Given the description of an element on the screen output the (x, y) to click on. 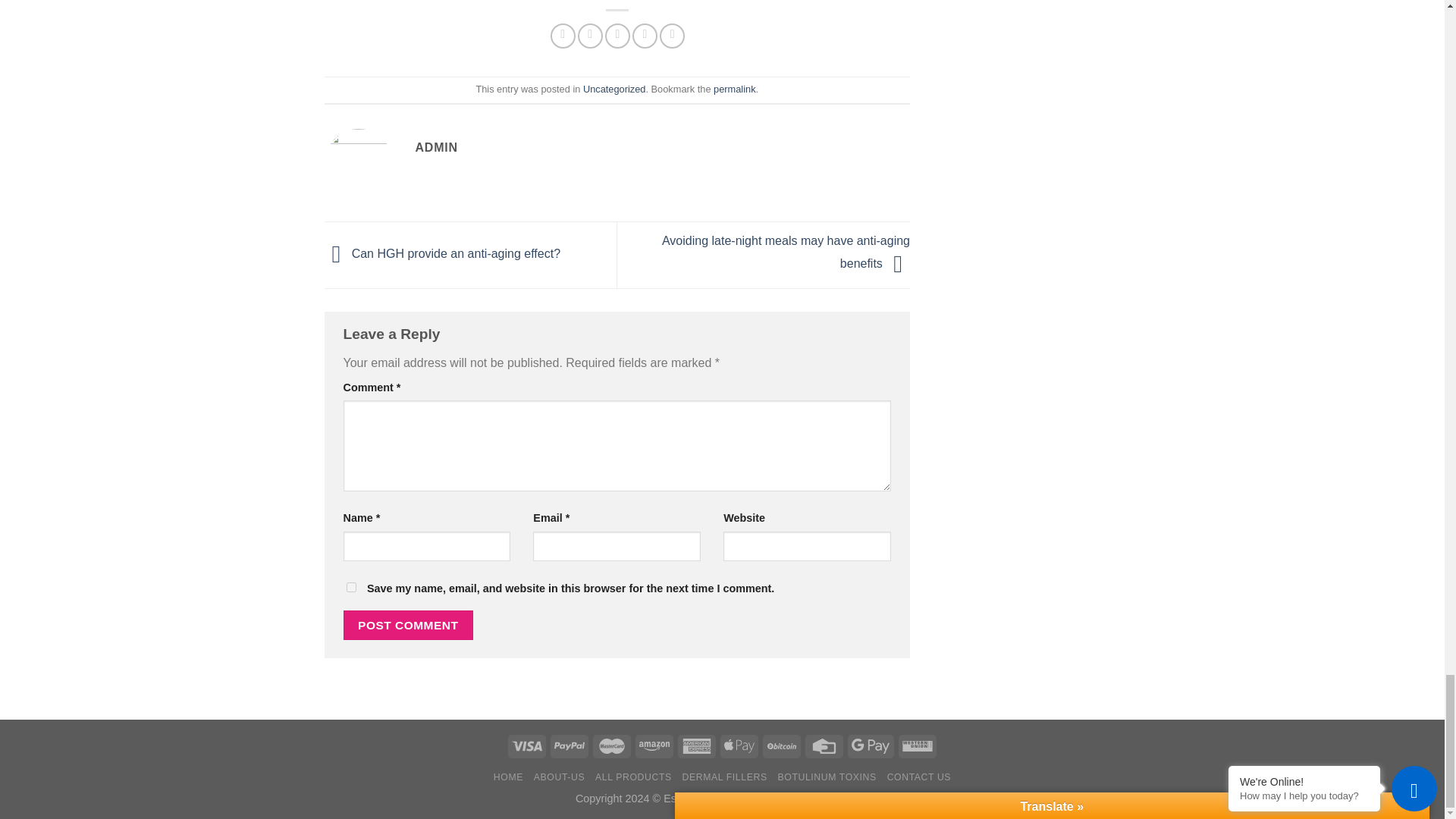
yes (350, 587)
Post Comment (407, 624)
Permalink to Collagen vs. biotin for the skin and hair (734, 89)
